Given the description of an element on the screen output the (x, y) to click on. 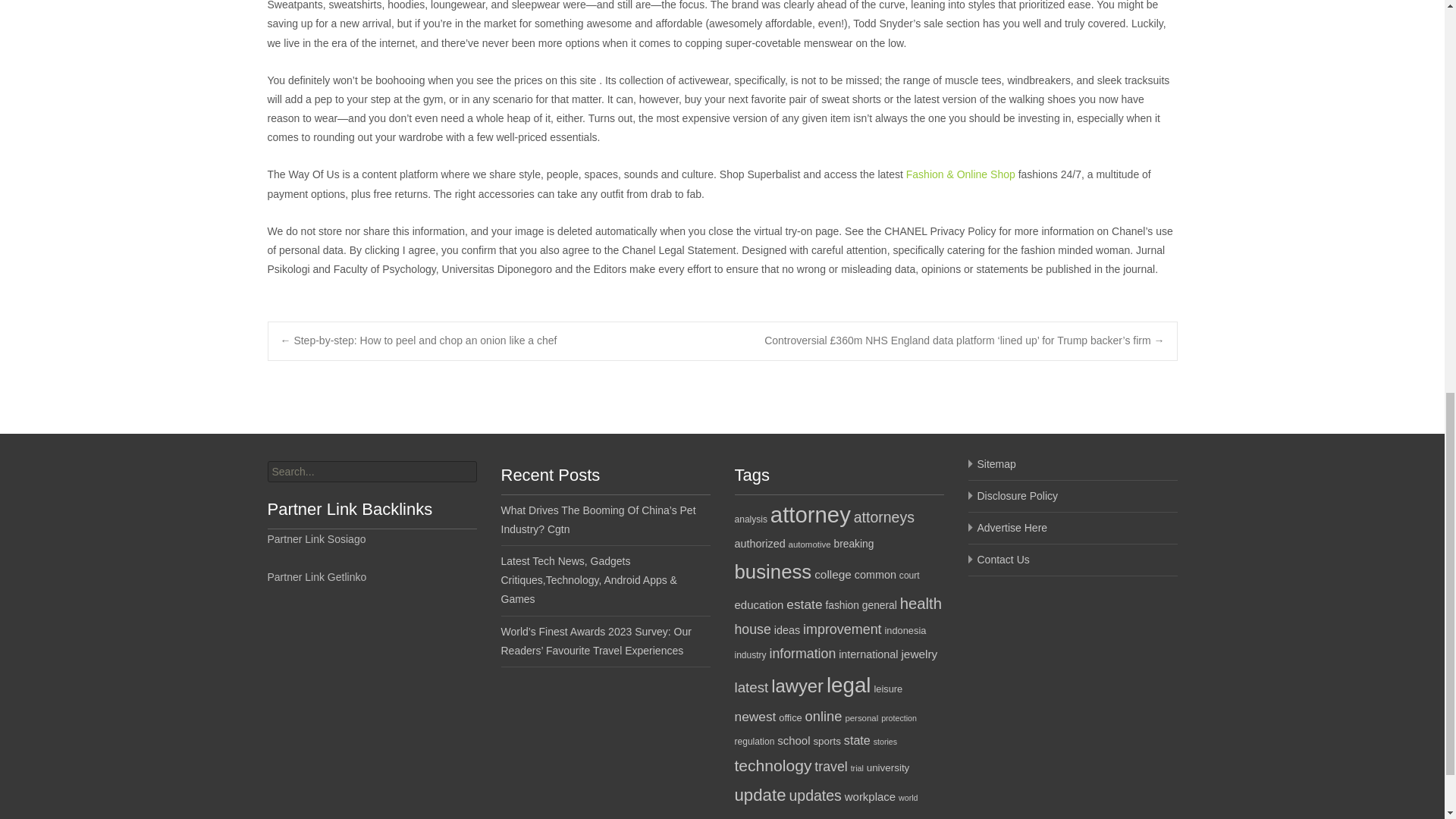
Search for: (371, 471)
college (832, 574)
authorized (758, 543)
automotive (810, 543)
attorney (810, 514)
breaking (852, 543)
analysis (750, 519)
attorneys (883, 516)
business (771, 571)
court (909, 575)
